Given the description of an element on the screen output the (x, y) to click on. 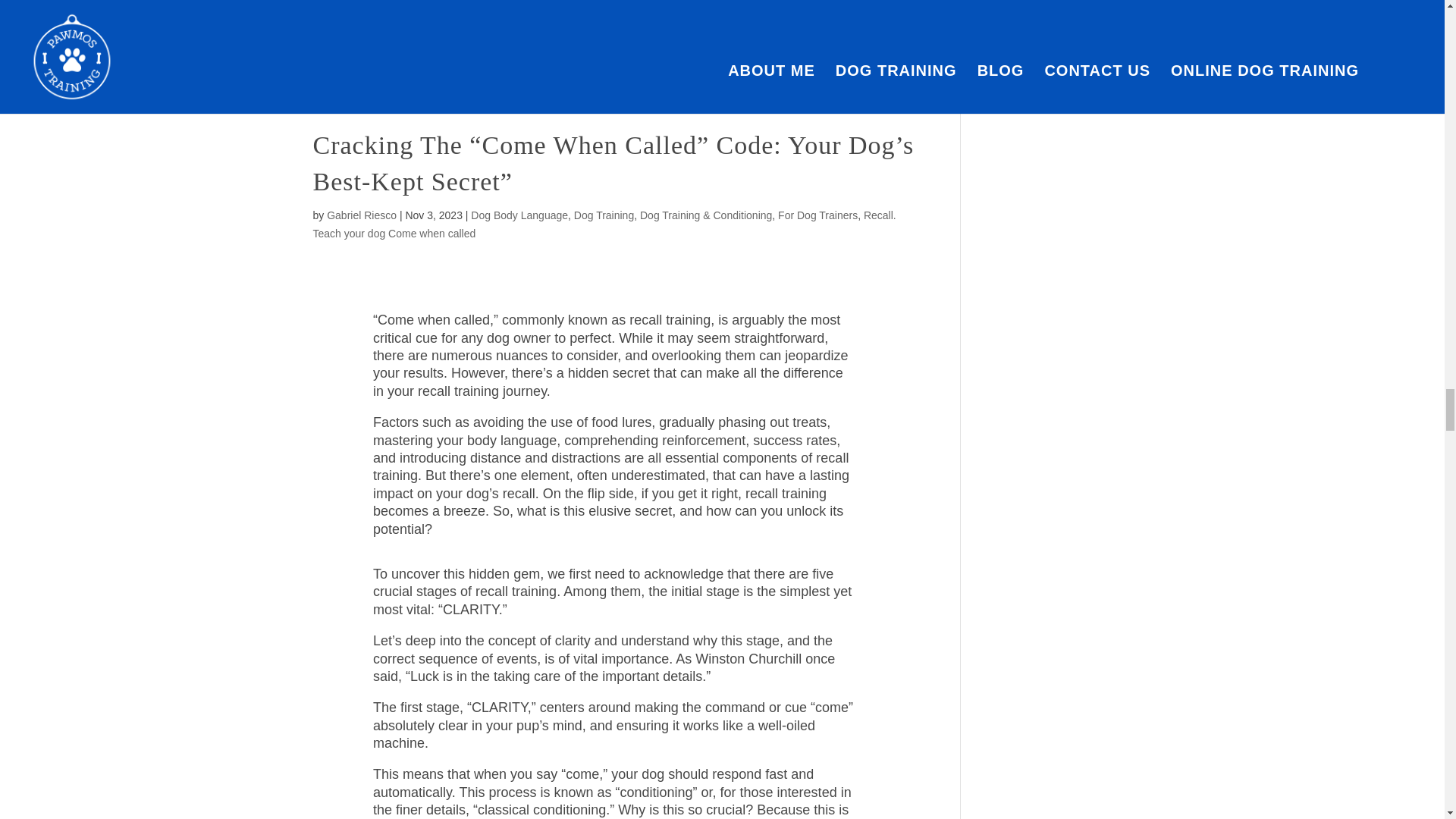
Posts by Gabriel Riesco (361, 215)
